Given the description of an element on the screen output the (x, y) to click on. 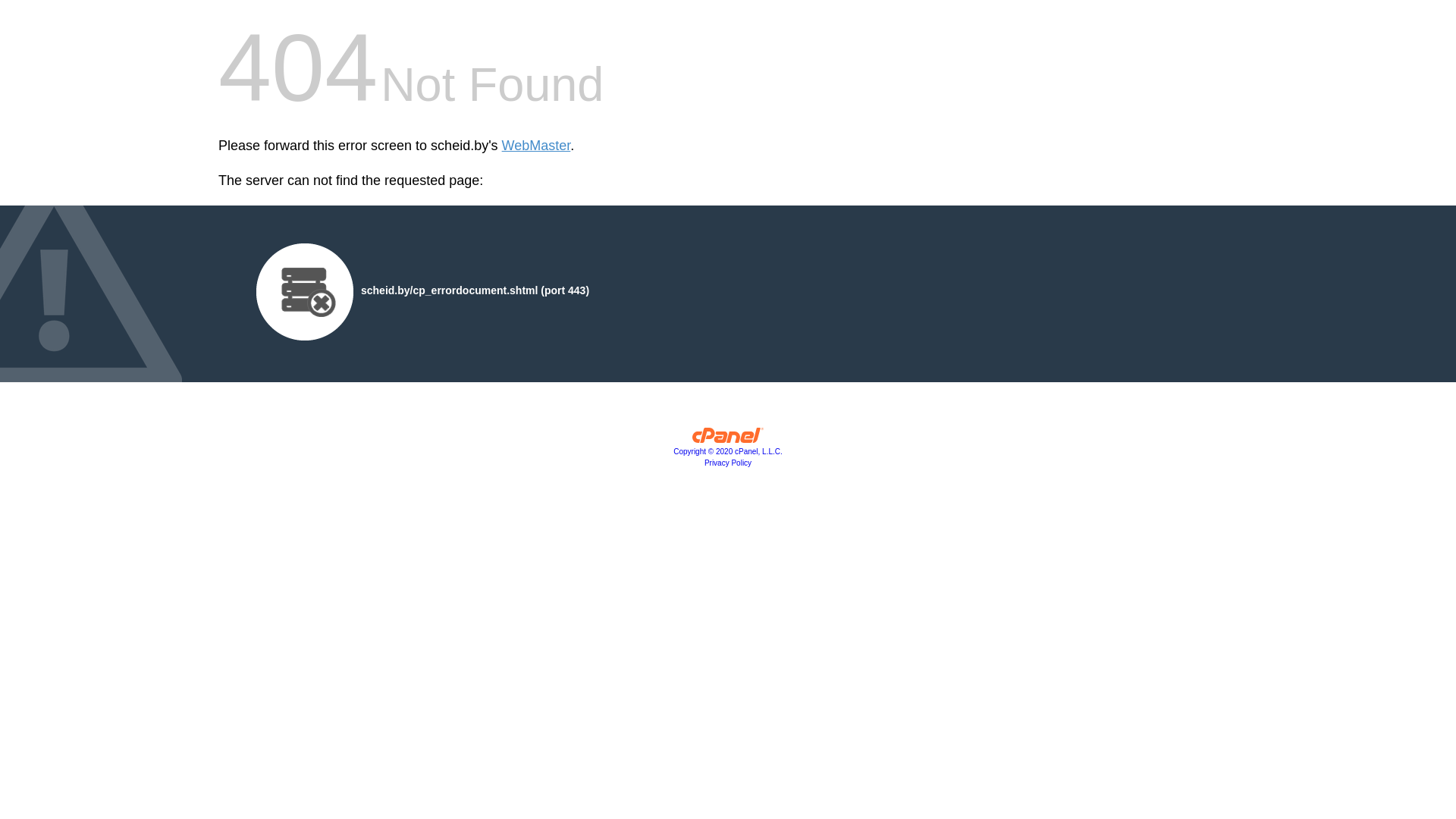
cPanel, Inc. Element type: hover (728, 439)
Privacy Policy Element type: text (727, 462)
WebMaster Element type: text (536, 145)
